Given the description of an element on the screen output the (x, y) to click on. 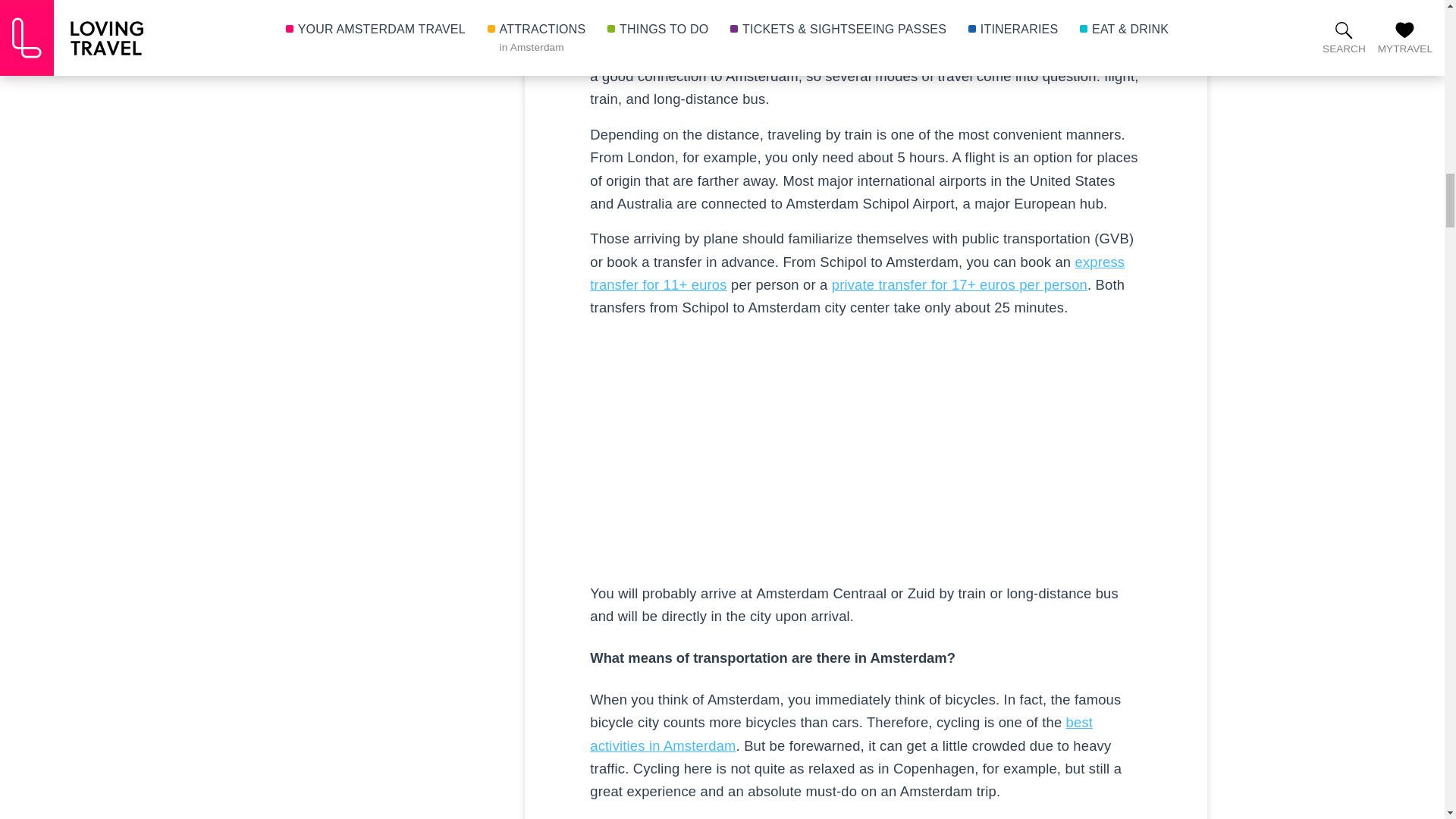
Transfer Amsterdam (856, 272)
Transfer Amsterdam (959, 284)
